Given the description of an element on the screen output the (x, y) to click on. 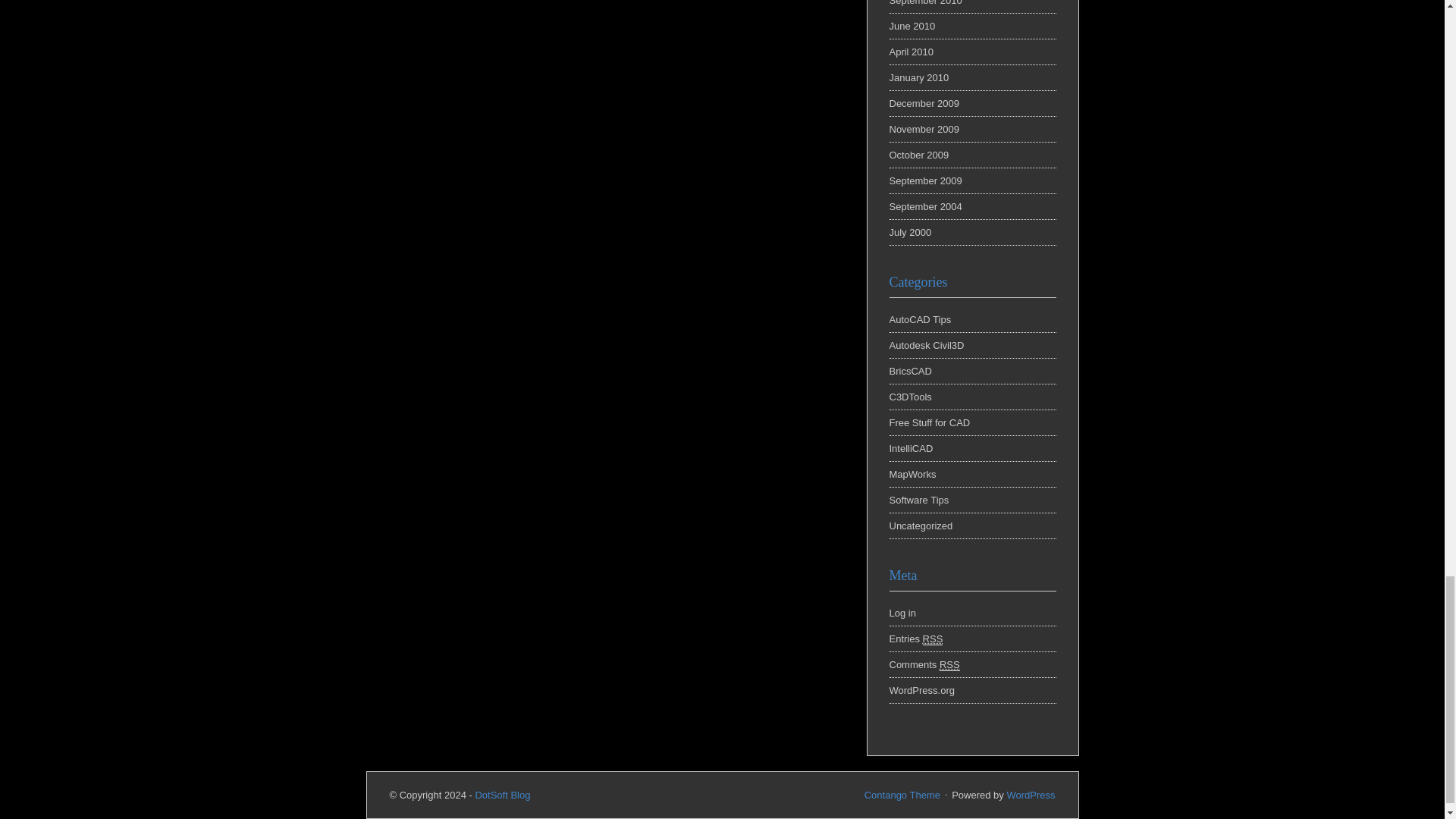
Contango Theme (902, 794)
Really Simple Syndication (933, 639)
Really Simple Syndication (949, 664)
WordPress (1030, 794)
Issues related to Autodesk's Civil3D product (925, 345)
